Given the description of an element on the screen output the (x, y) to click on. 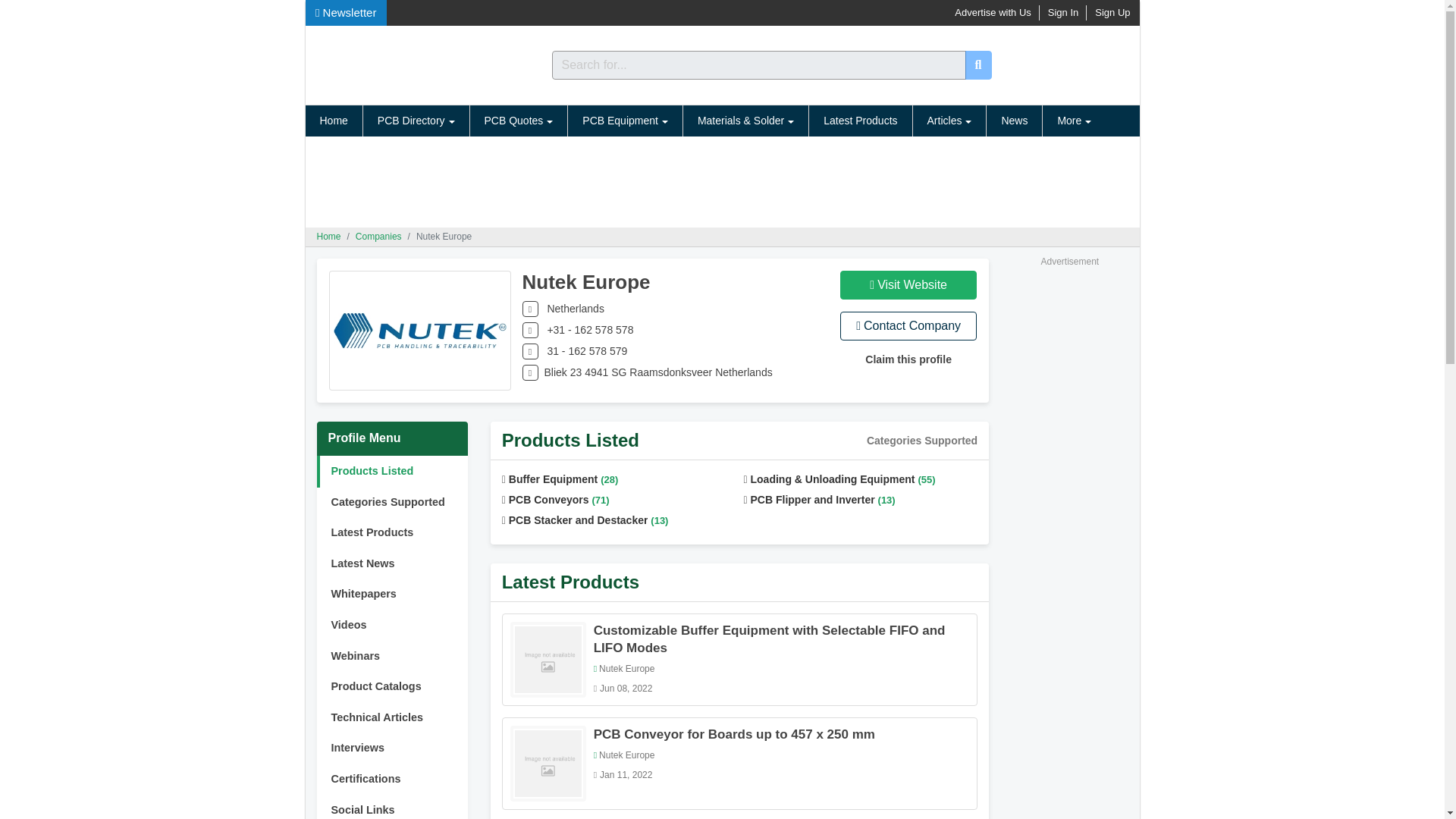
Newsletter (345, 12)
Buffer Equipment (552, 479)
PCB Directory (415, 120)
PCB Quotes (517, 120)
Sign In (1063, 12)
Home (332, 120)
Sign Up (1112, 12)
PCB Equipment (624, 120)
PCB Flipper and Inverter (813, 499)
PCB Conveyors (548, 499)
